Given the description of an element on the screen output the (x, y) to click on. 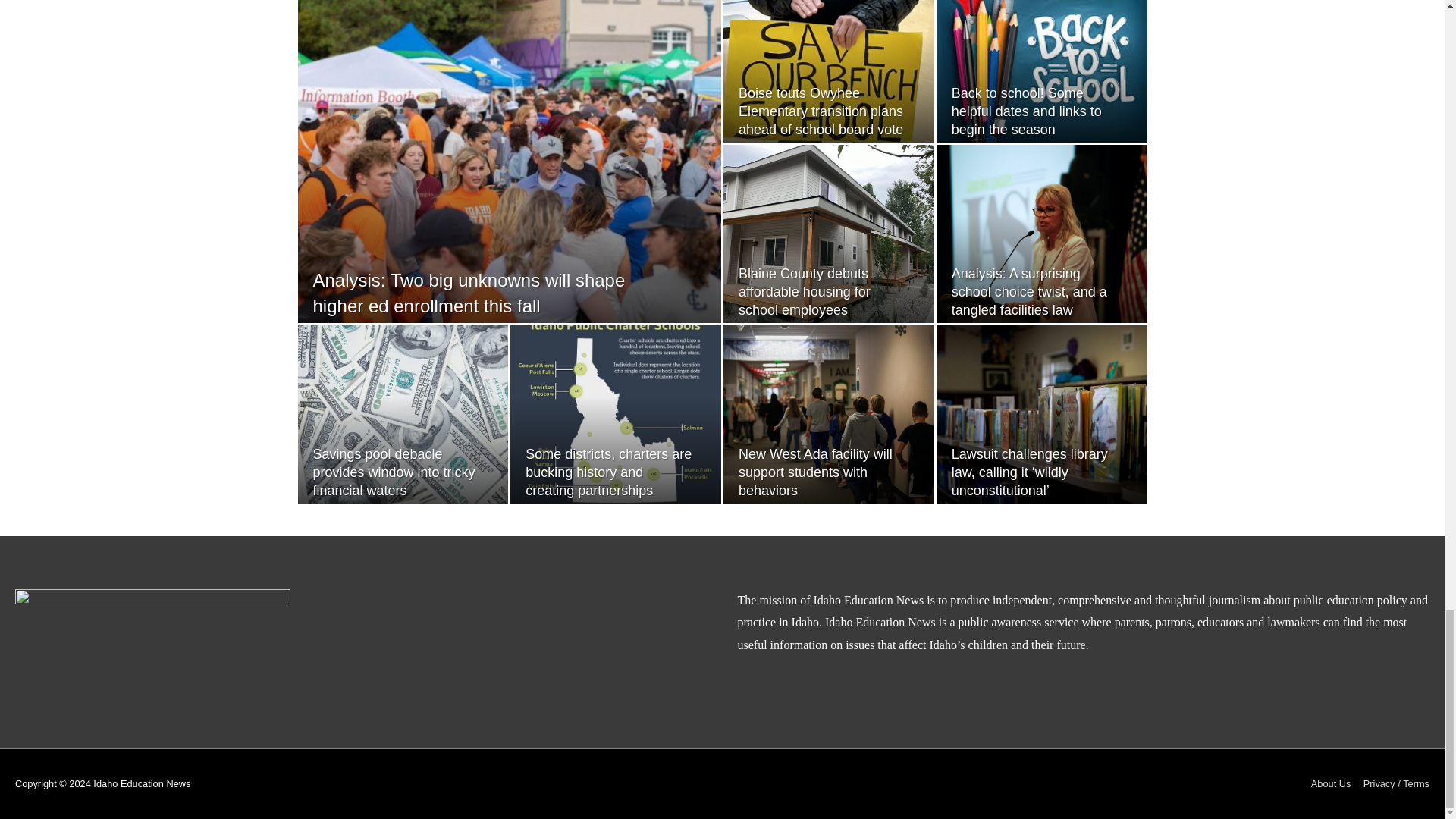
Blaine County debuts affordable housing for school employees (804, 290)
New West Ada facility will support students with behaviors (815, 471)
